Given the description of an element on the screen output the (x, y) to click on. 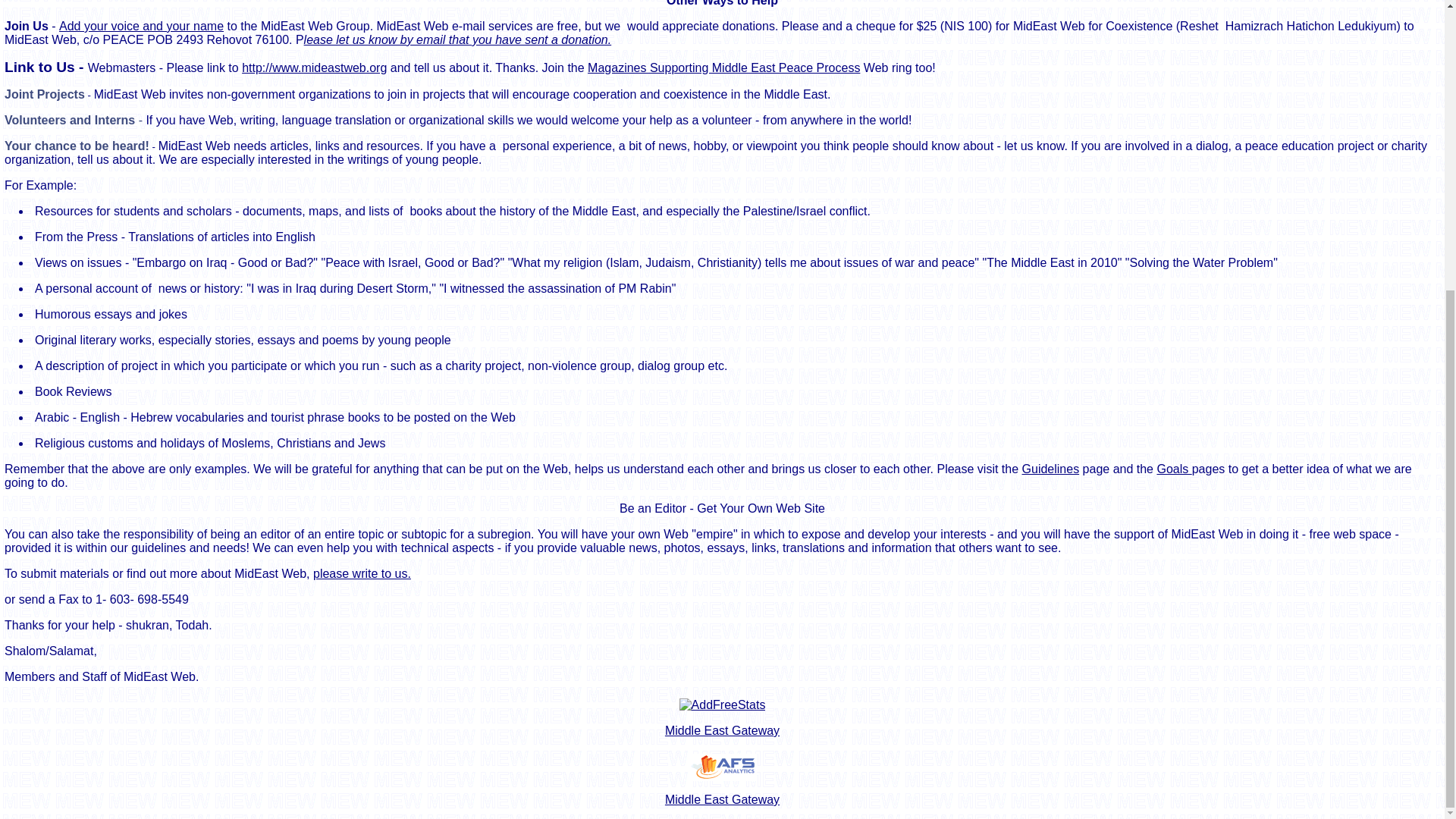
MidEastWeb Middle East Main Page (721, 799)
Middle East Gateway (721, 730)
Middle East Gateway (721, 799)
Goals (1173, 468)
Add your voice and your name (141, 25)
please write to us. (361, 573)
Guidelines (1051, 468)
MidEastWeb Middle East Main Page (721, 730)
Magazines Supporting Middle East Peace Process (724, 67)
lease let us know by email that you have sent a donation. (457, 39)
